Given the description of an element on the screen output the (x, y) to click on. 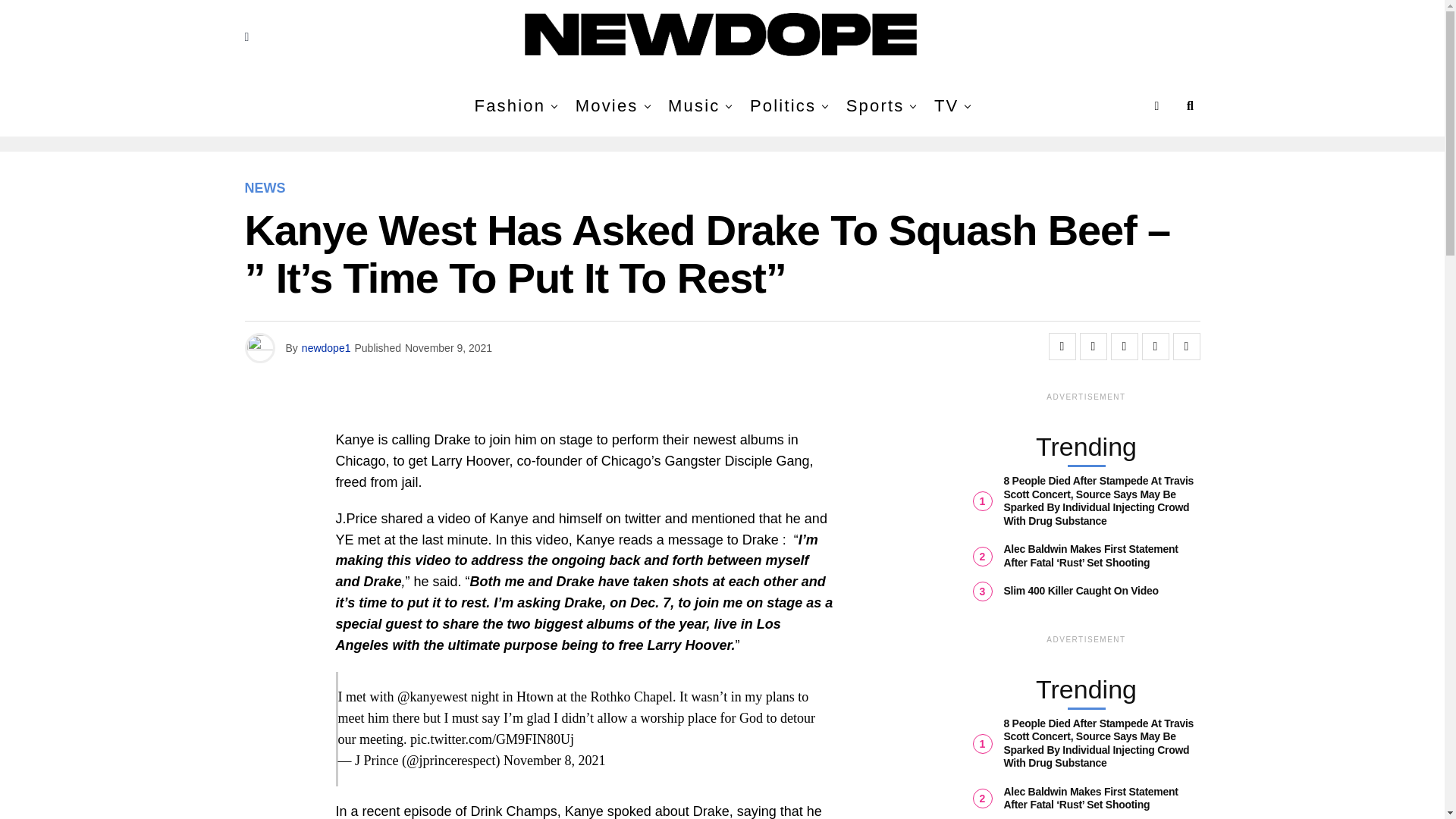
Fashion (510, 106)
Politics (783, 106)
Sports (875, 106)
Share on Facebook (1061, 346)
Tweet This Post (1093, 346)
newdope1 (325, 347)
NEWS (264, 187)
Posts by newdope1 (325, 347)
Movies (606, 106)
Music (693, 106)
